Given the description of an element on the screen output the (x, y) to click on. 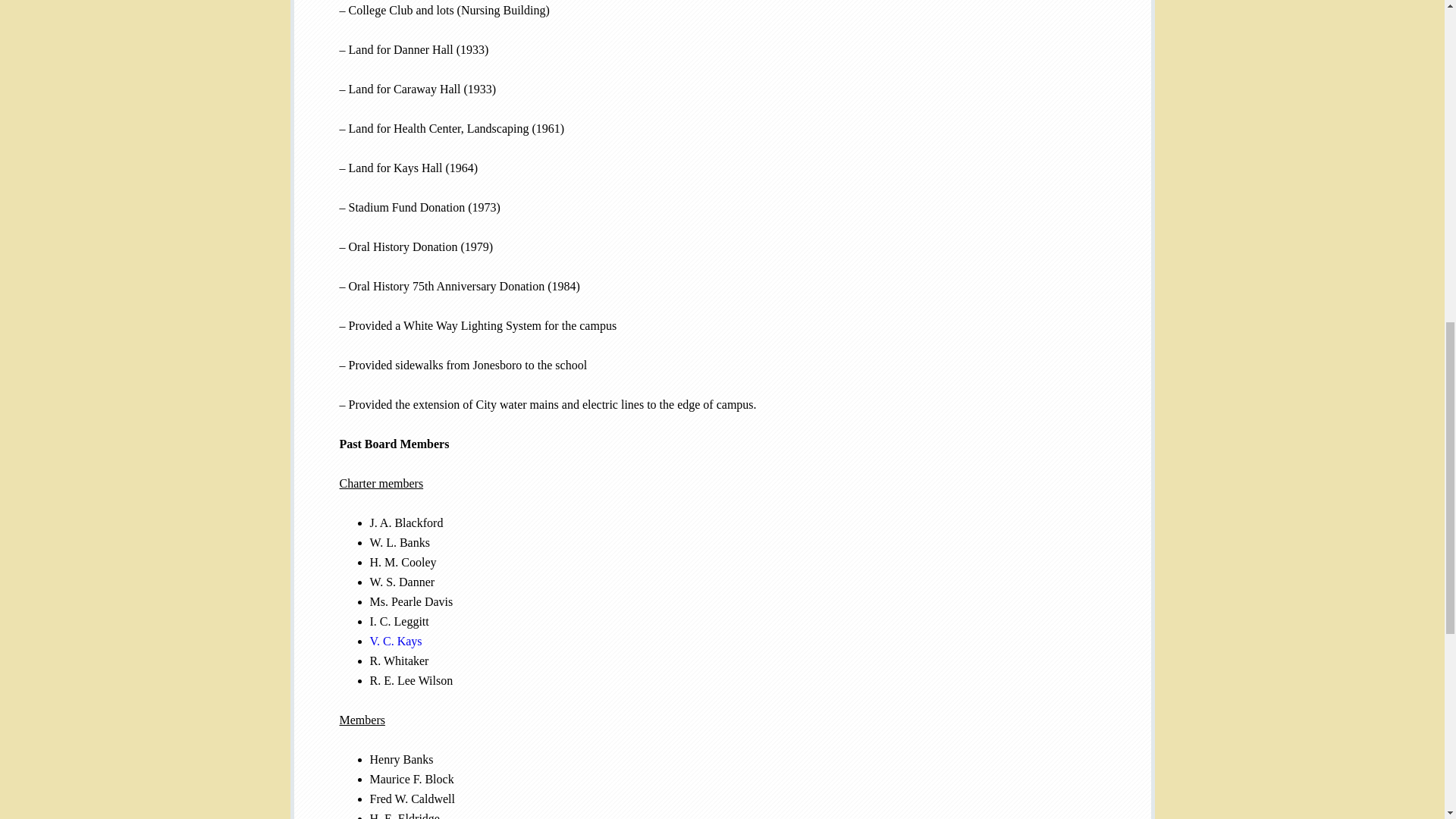
V. C. Kays (395, 640)
